Given the description of an element on the screen output the (x, y) to click on. 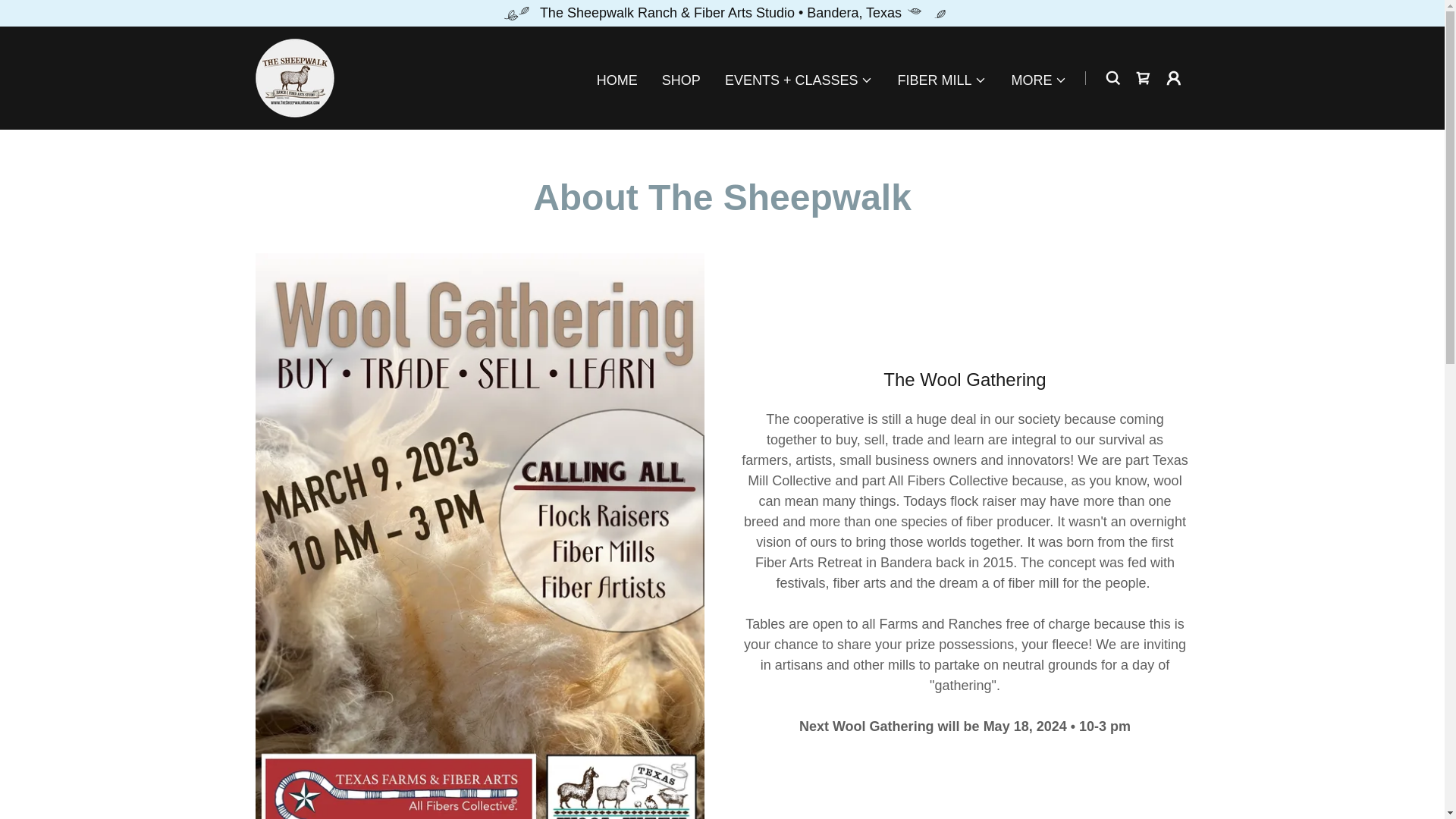
SHOP (681, 80)
MORE (1038, 80)
Suzoo's Wool Works (293, 77)
HOME (617, 80)
FIBER MILL (941, 80)
